Given the description of an element on the screen output the (x, y) to click on. 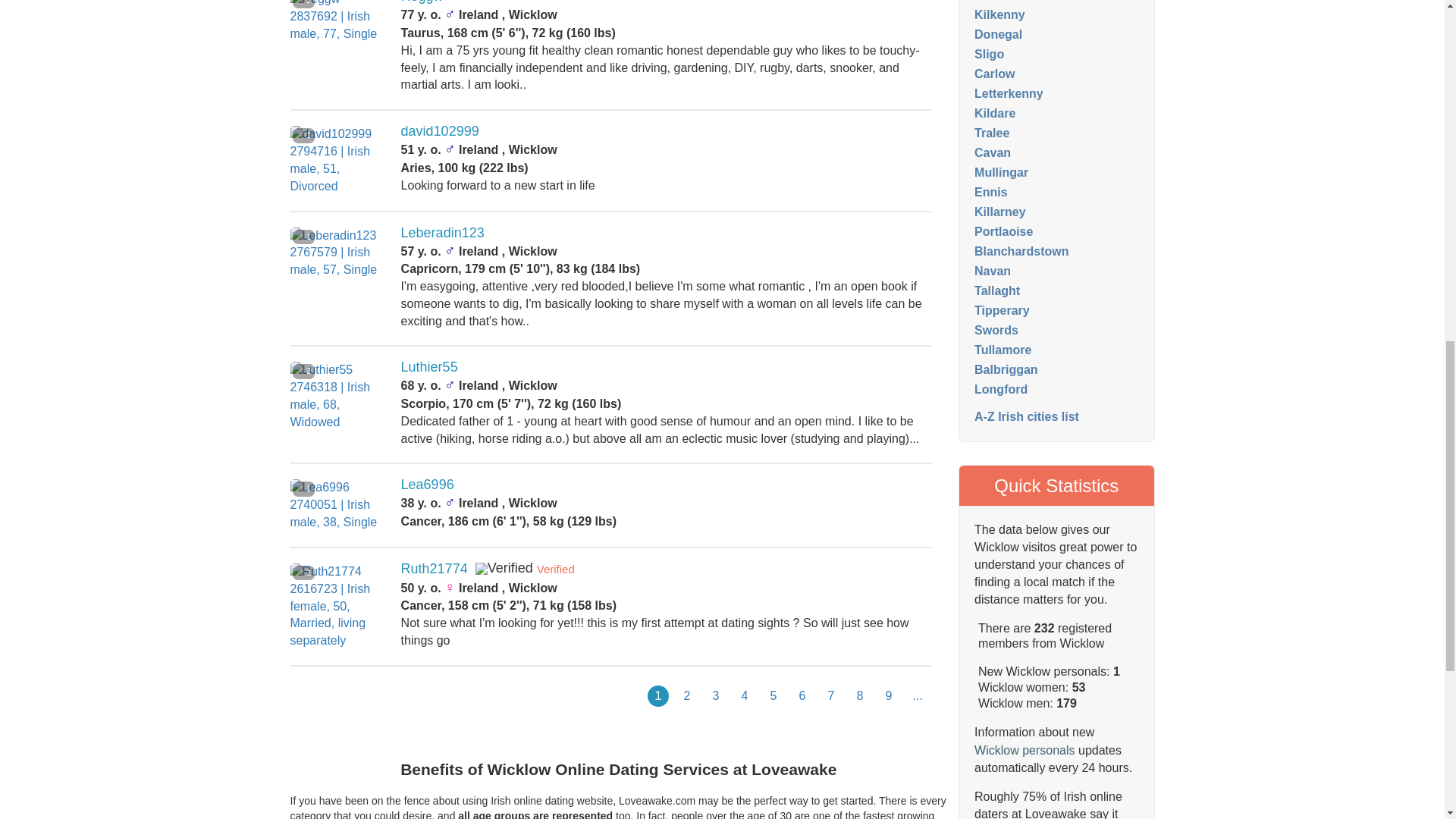
Lea6996 (427, 484)
Leberadin123 (442, 232)
Reggw (422, 2)
Ruth21774 (434, 568)
Luthier55 (429, 366)
Verified (504, 568)
david102999 (440, 130)
